Given the description of an element on the screen output the (x, y) to click on. 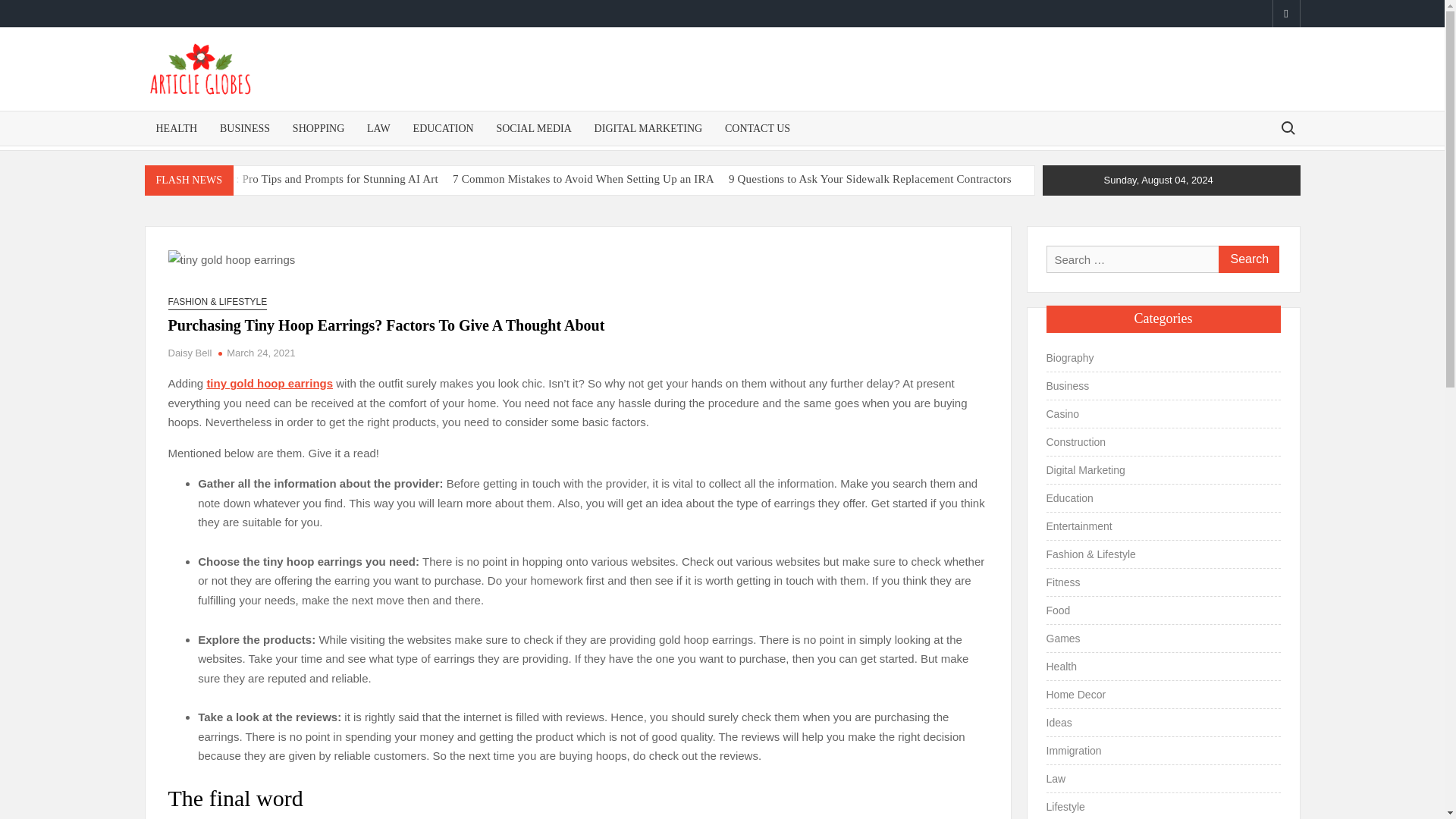
Search (1247, 258)
Search for: (1287, 127)
7 Common Mistakes to Avoid When Setting Up an IRA (583, 178)
Master Midjourney: Pro Tips and Prompts for Stunning AI Art (291, 178)
7 Common Mistakes to Avoid When Setting Up an IRA (583, 178)
DIGITAL MARKETING (648, 128)
CONTACT US (757, 128)
Search (1247, 258)
LAW (378, 128)
9 Questions to Ask Your Sidewalk Replacement Contractors (870, 178)
SHOPPING (318, 128)
SOCIAL MEDIA (533, 128)
Why Every Amazon Seller Needs Regular Account Audits (161, 201)
BUSINESS (244, 128)
EDUCATION (442, 128)
